Given the description of an element on the screen output the (x, y) to click on. 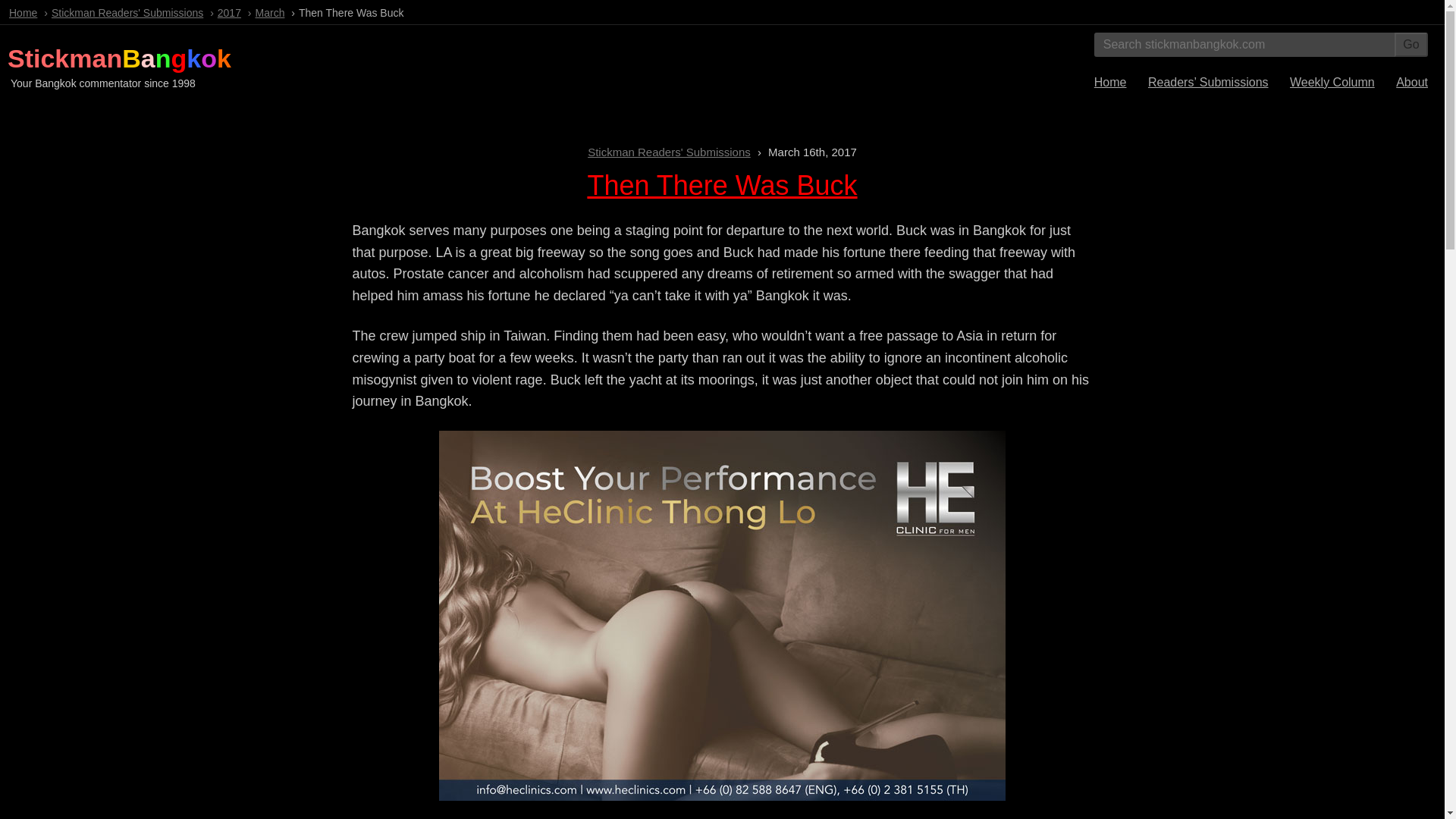
StickmanBangkok (119, 58)
Stickman Readers' Submissions (669, 151)
Home (1109, 82)
2017 (228, 12)
March (270, 12)
Weekly Column (1332, 82)
Home (22, 12)
Stickman Readers' Submissions (126, 12)
Go (1411, 44)
About (1412, 82)
